Given the description of an element on the screen output the (x, y) to click on. 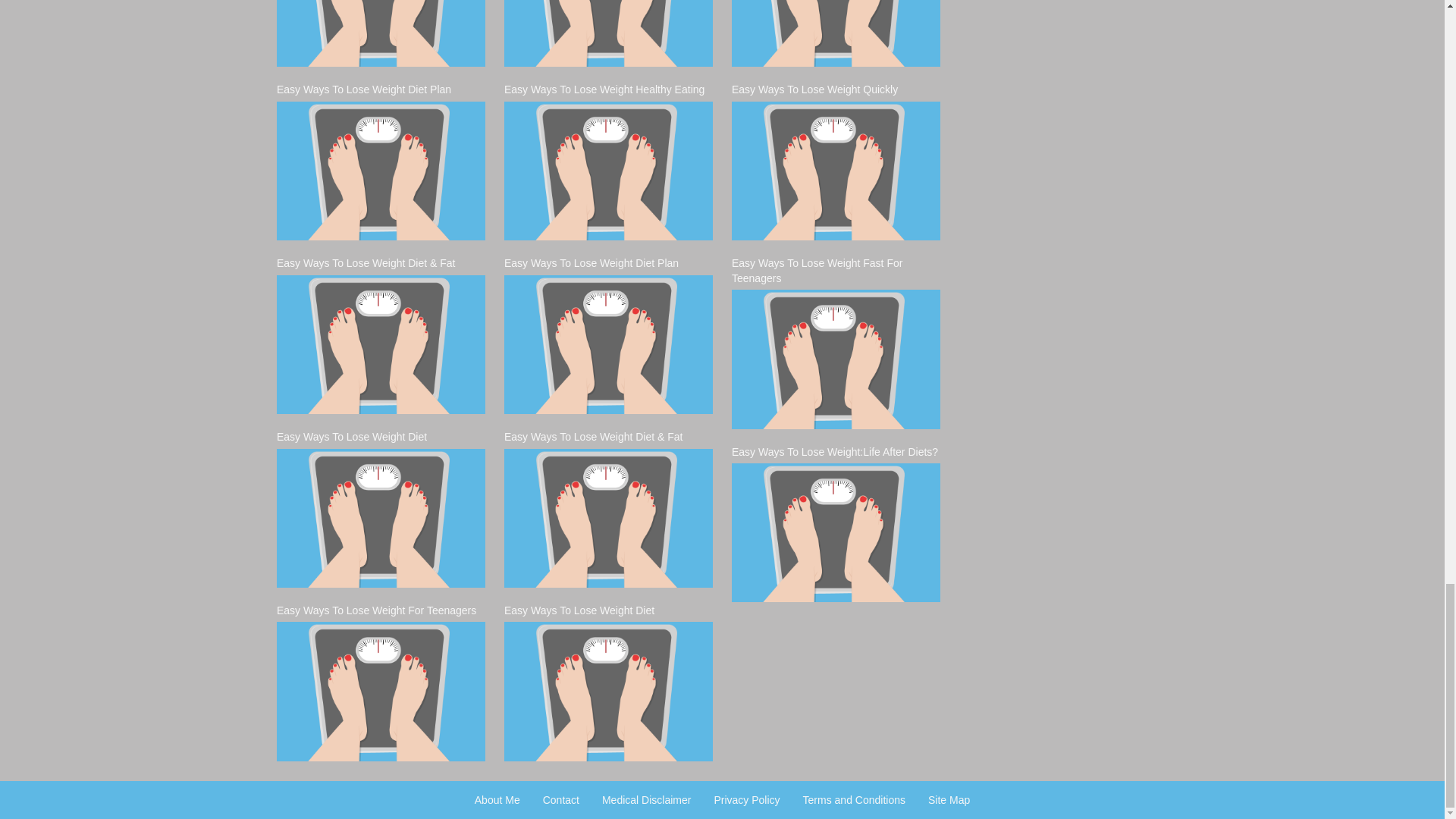
Easy Ways To Lose Weight Healthy Eating (380, 33)
